Given the description of an element on the screen output the (x, y) to click on. 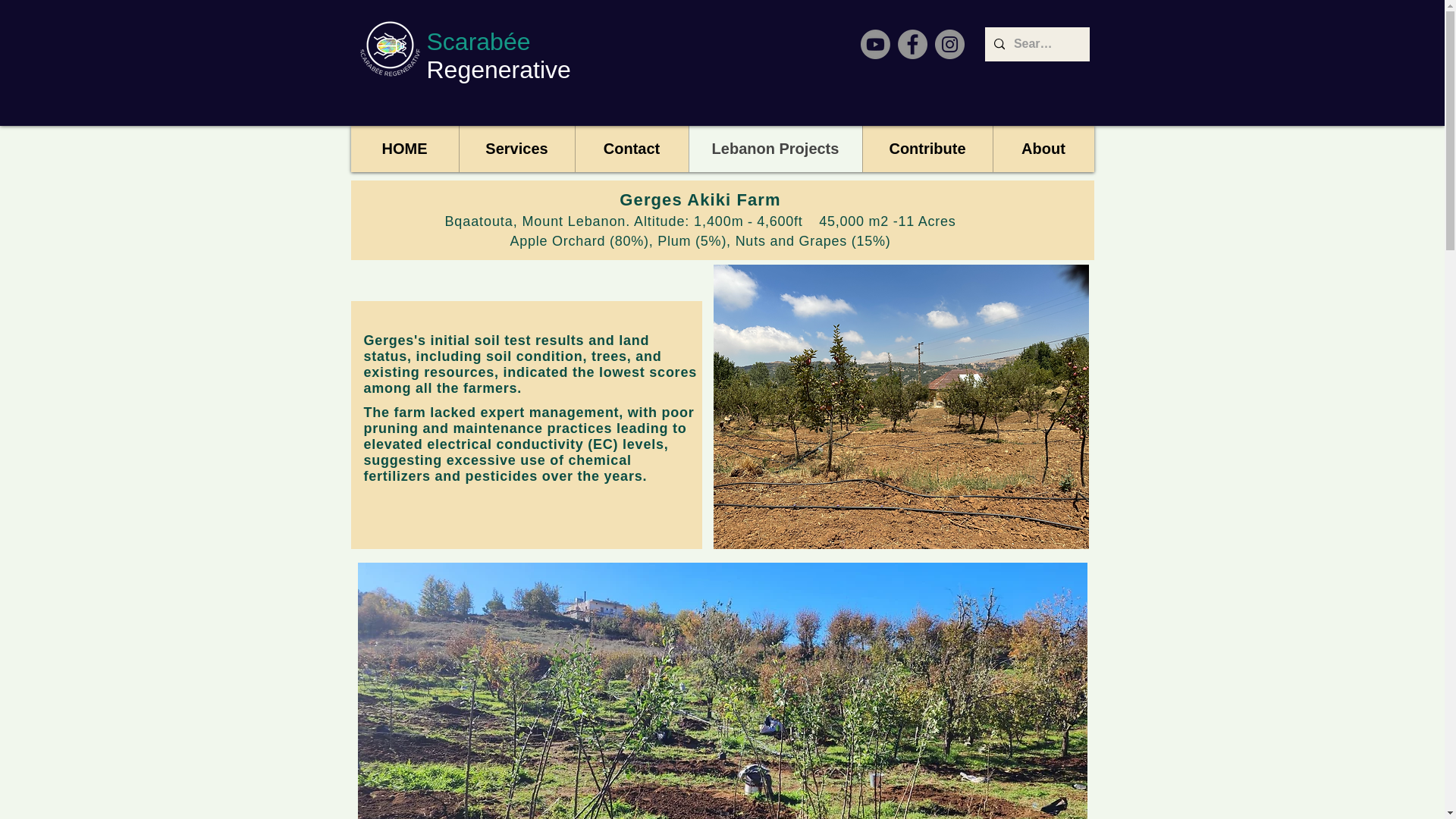
HOME (404, 148)
About (1042, 148)
Lebanon Projects (774, 148)
Contribute (926, 148)
Contact (631, 148)
Services (515, 148)
kiki Farm (740, 199)
